Given the description of an element on the screen output the (x, y) to click on. 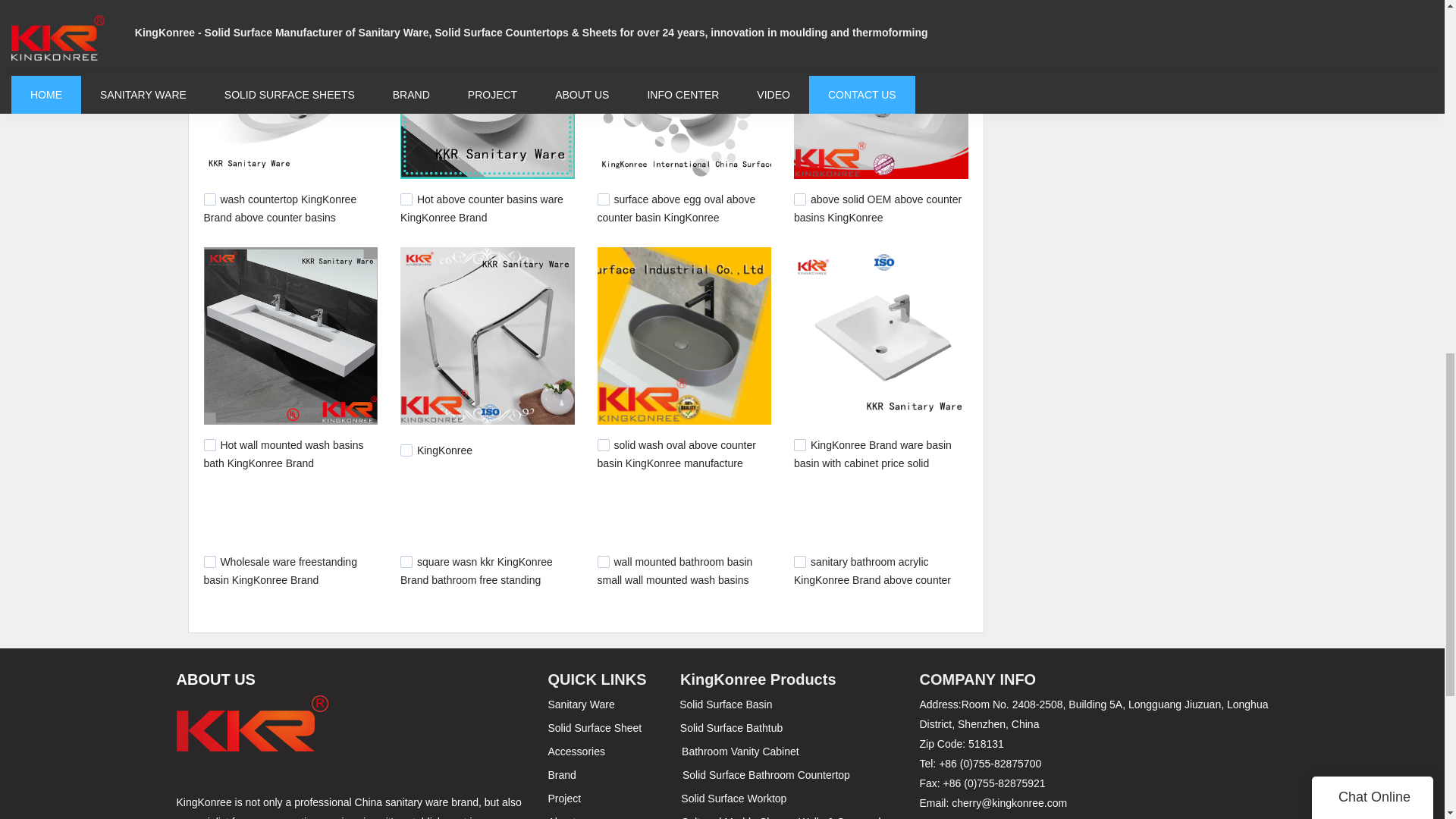
wash countertop KingKonree Brand above counter basins (279, 208)
solid wash oval above counter basin KingKonree manufacture (675, 453)
674 (799, 444)
754 (209, 444)
Hot above counter basins ware KingKonree Brand (481, 208)
631 (603, 562)
